Given the description of an element on the screen output the (x, y) to click on. 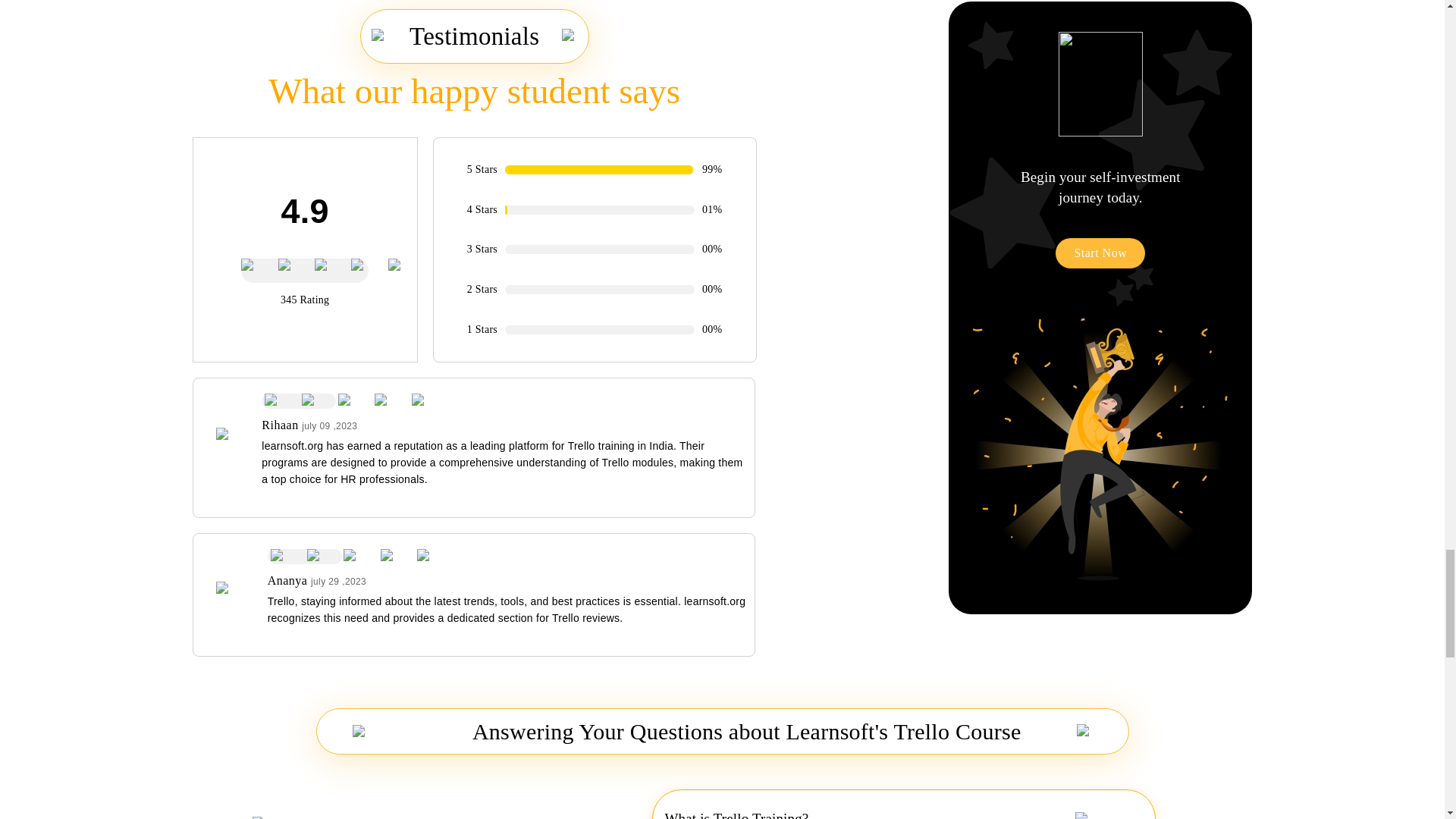
Start Now (1099, 253)
Start Now (1099, 238)
